Given the description of an element on the screen output the (x, y) to click on. 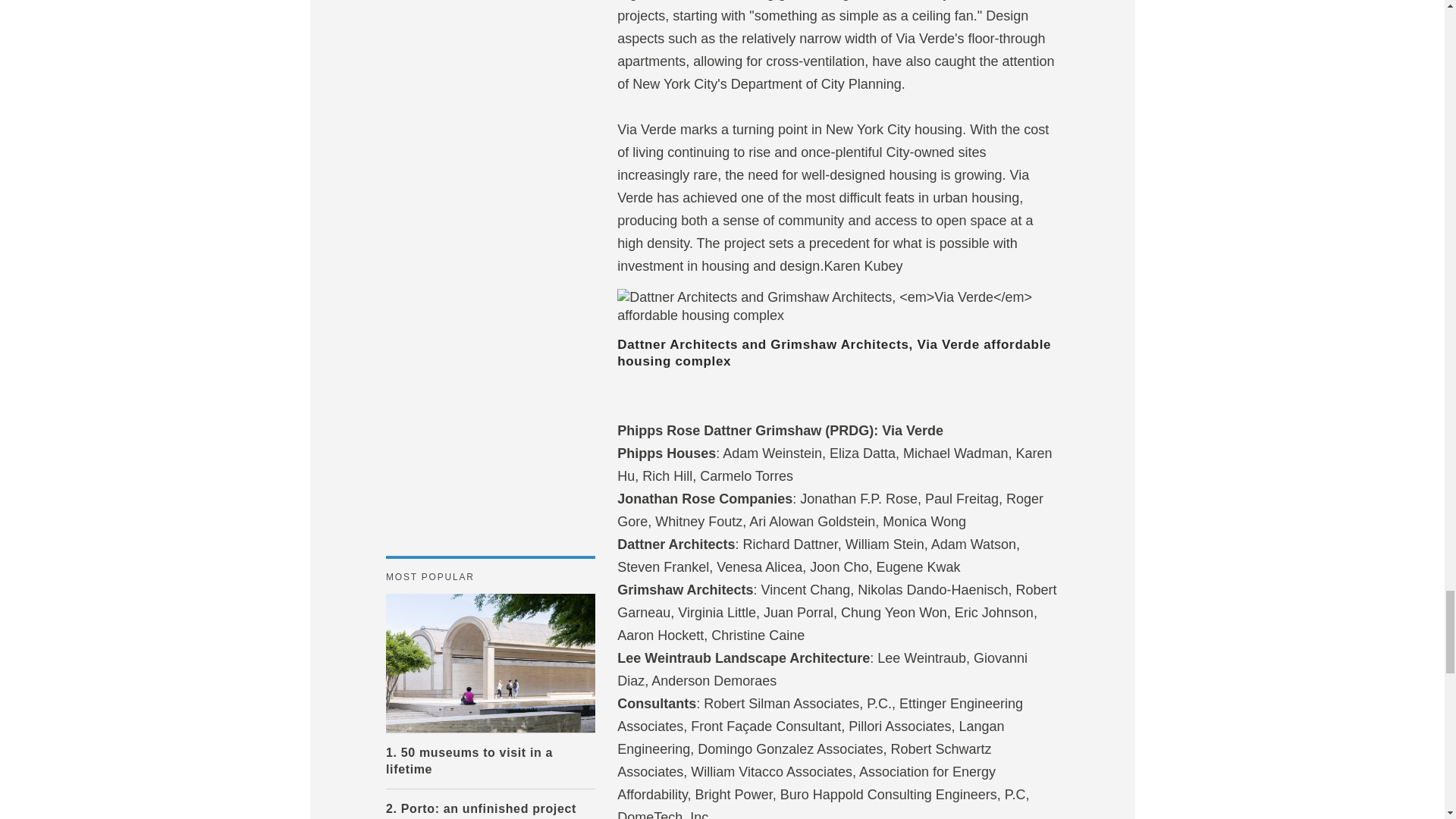
50 museums to visit in a lifetime (489, 663)
